Given the description of an element on the screen output the (x, y) to click on. 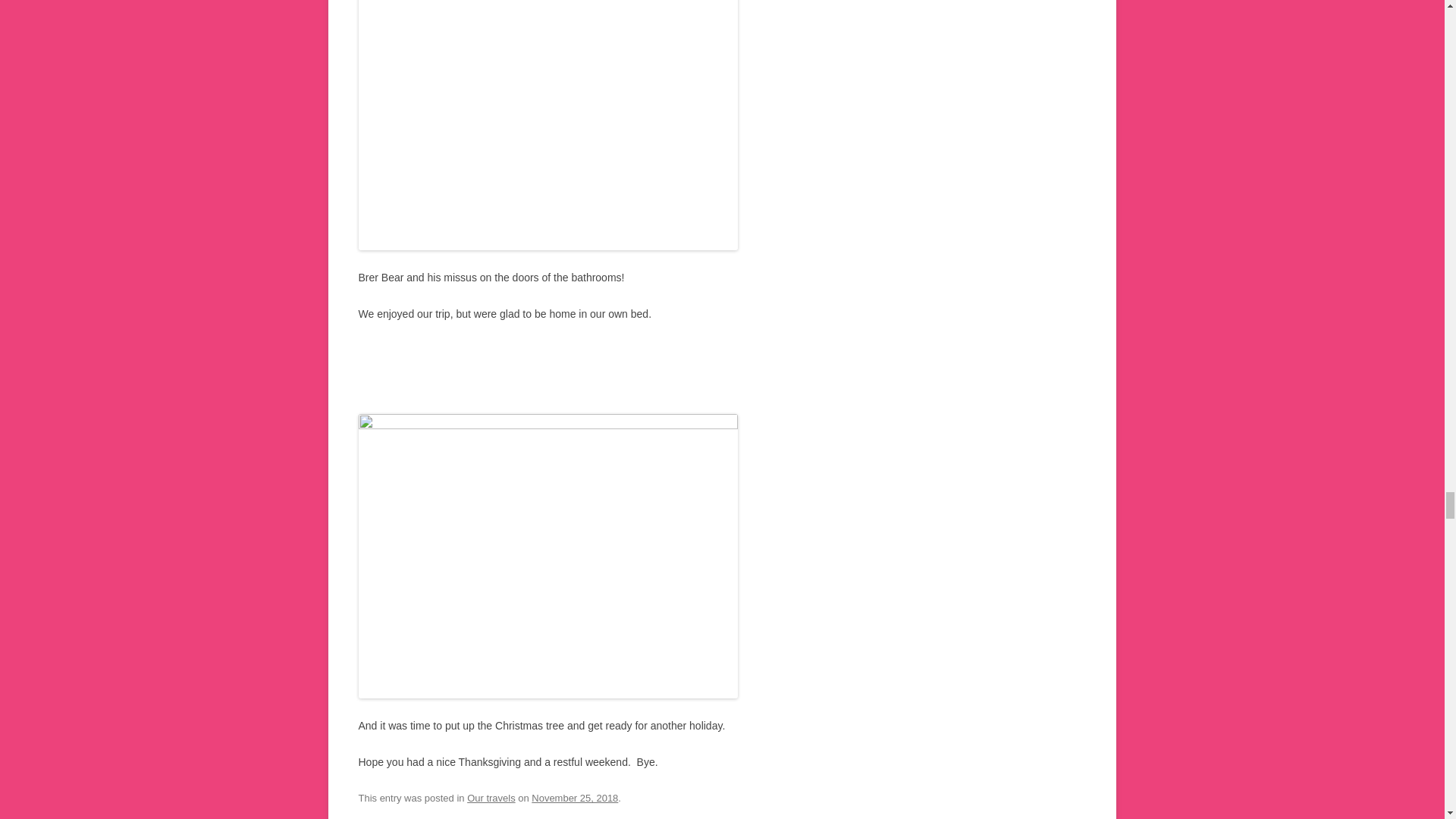
9:05 pm (574, 797)
